Given the description of an element on the screen output the (x, y) to click on. 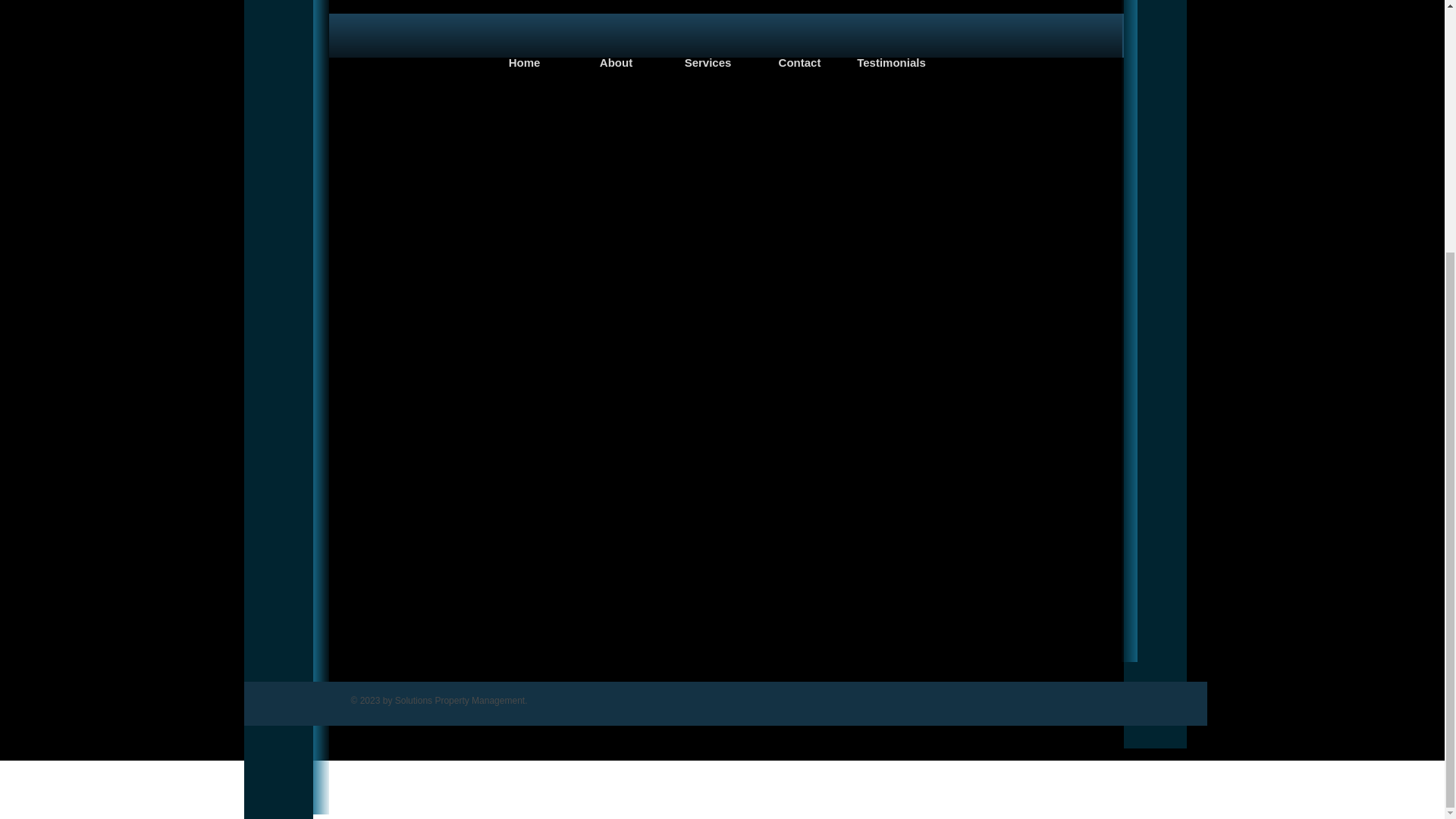
Testimonials (891, 61)
About (616, 61)
Services (708, 61)
Home (524, 61)
Contact (799, 61)
